Given the description of an element on the screen output the (x, y) to click on. 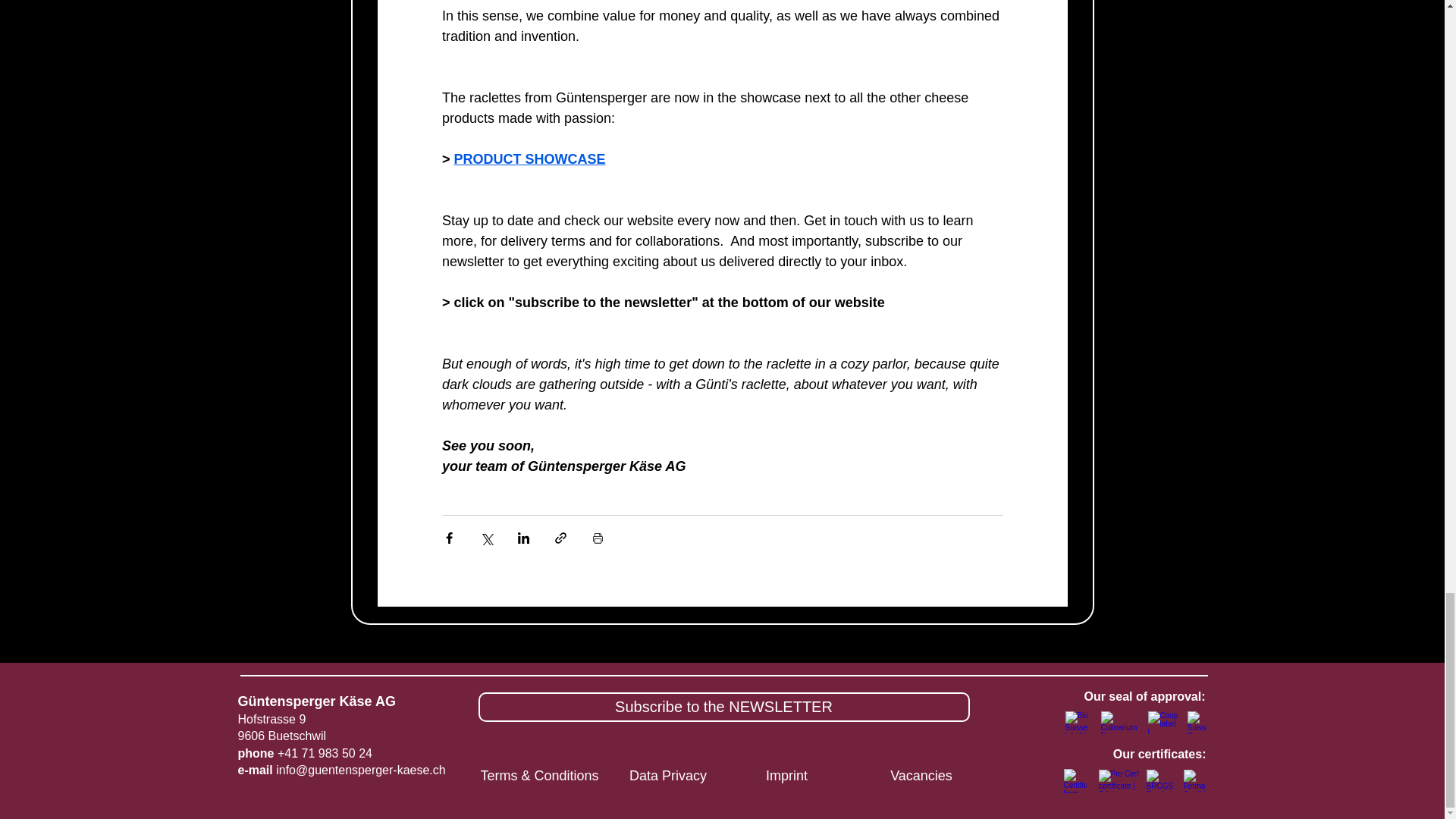
Data Privacy (667, 776)
Vacancies (921, 776)
Imprint (786, 776)
Subscribe to the NEWSLETTER (723, 706)
PRODUCT SHOWCASE (528, 159)
